Given the description of an element on the screen output the (x, y) to click on. 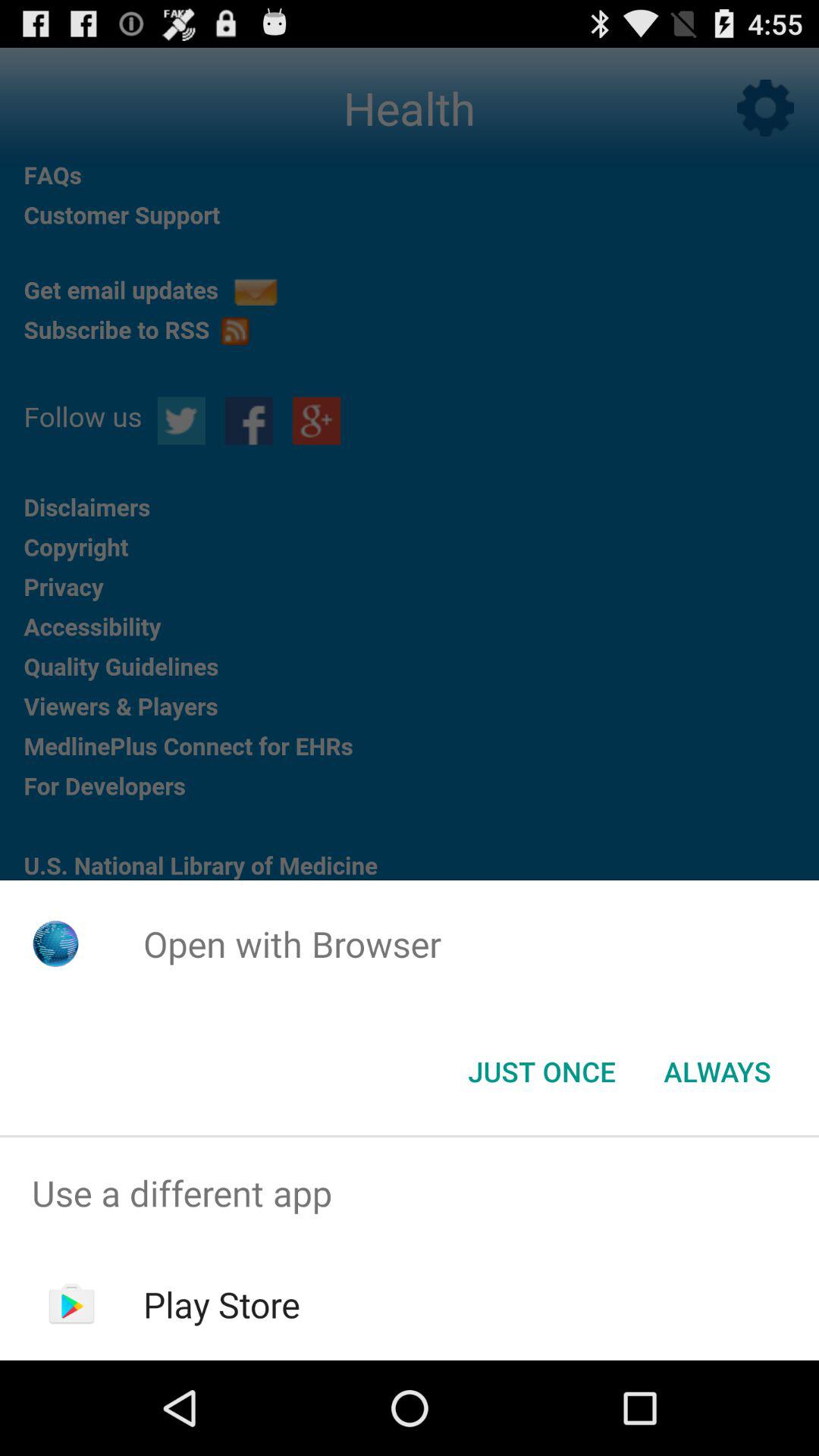
turn off the always at the bottom right corner (717, 1071)
